Given the description of an element on the screen output the (x, y) to click on. 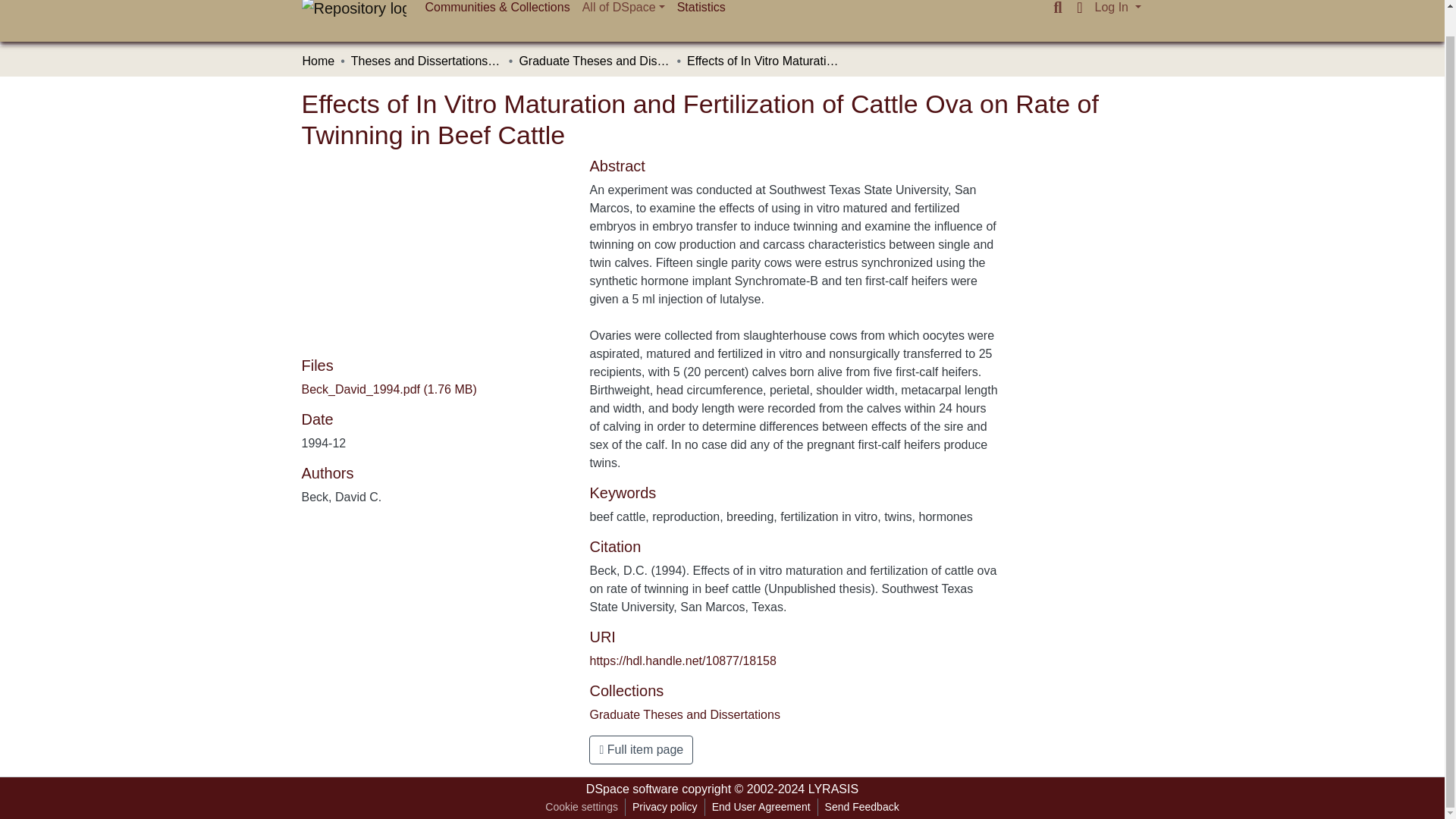
DSpace software (632, 788)
Home (317, 61)
Graduate Theses and Dissertations (683, 714)
All of DSpace (623, 11)
Language switch (1079, 8)
End User Agreement (760, 806)
Theses and Dissertations, Capstones, and Directed Research (426, 61)
Privacy policy (665, 806)
Graduate Theses and Dissertations (593, 61)
Full item page (641, 749)
